Given the description of an element on the screen output the (x, y) to click on. 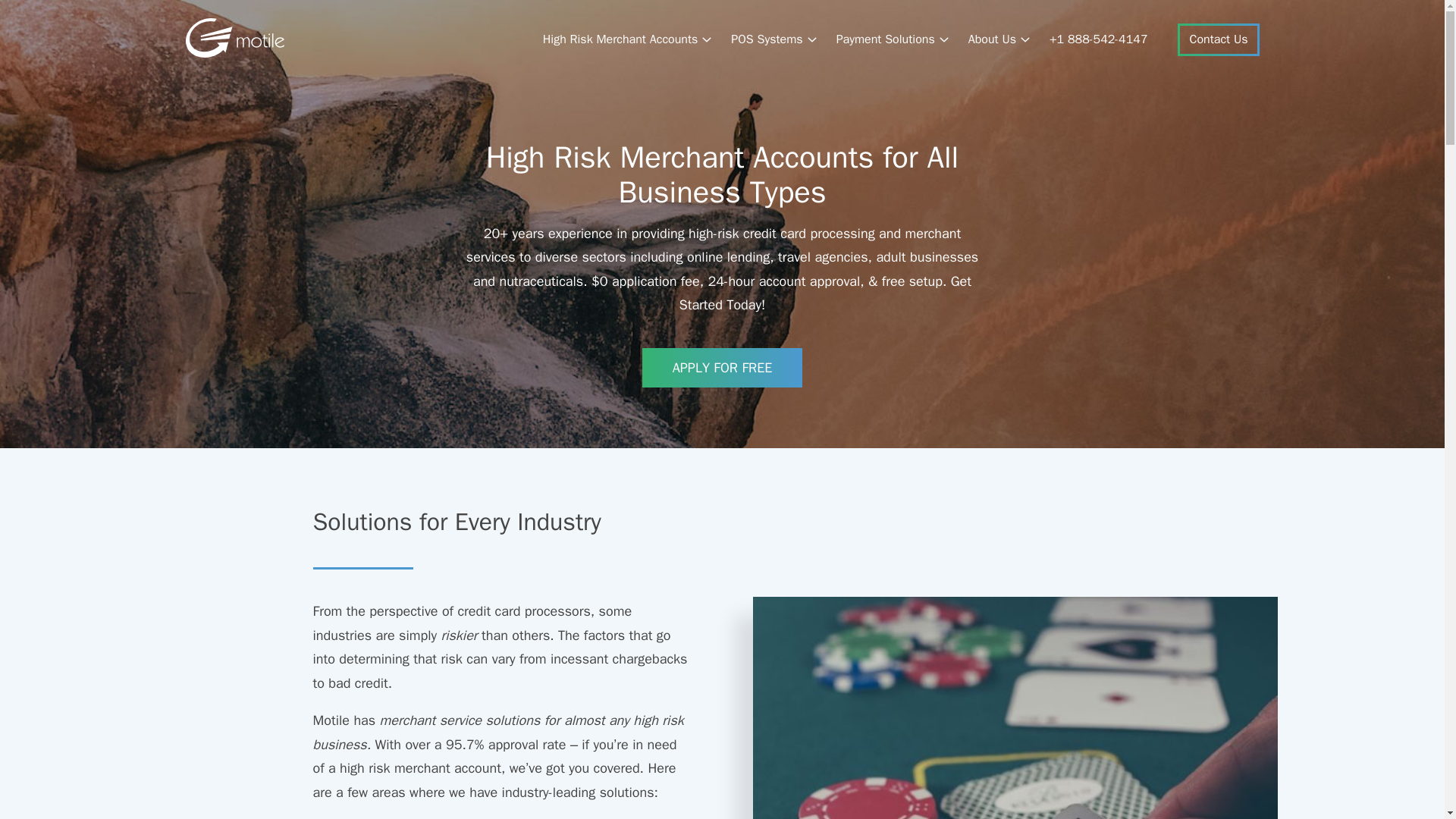
High Risk Merchant Accounts (628, 39)
POS Systems (773, 39)
PayMotile (233, 53)
Payment Solutions (892, 39)
APPLY FOR FREE (722, 368)
About Us (999, 39)
Contact Us (1218, 39)
